Given the description of an element on the screen output the (x, y) to click on. 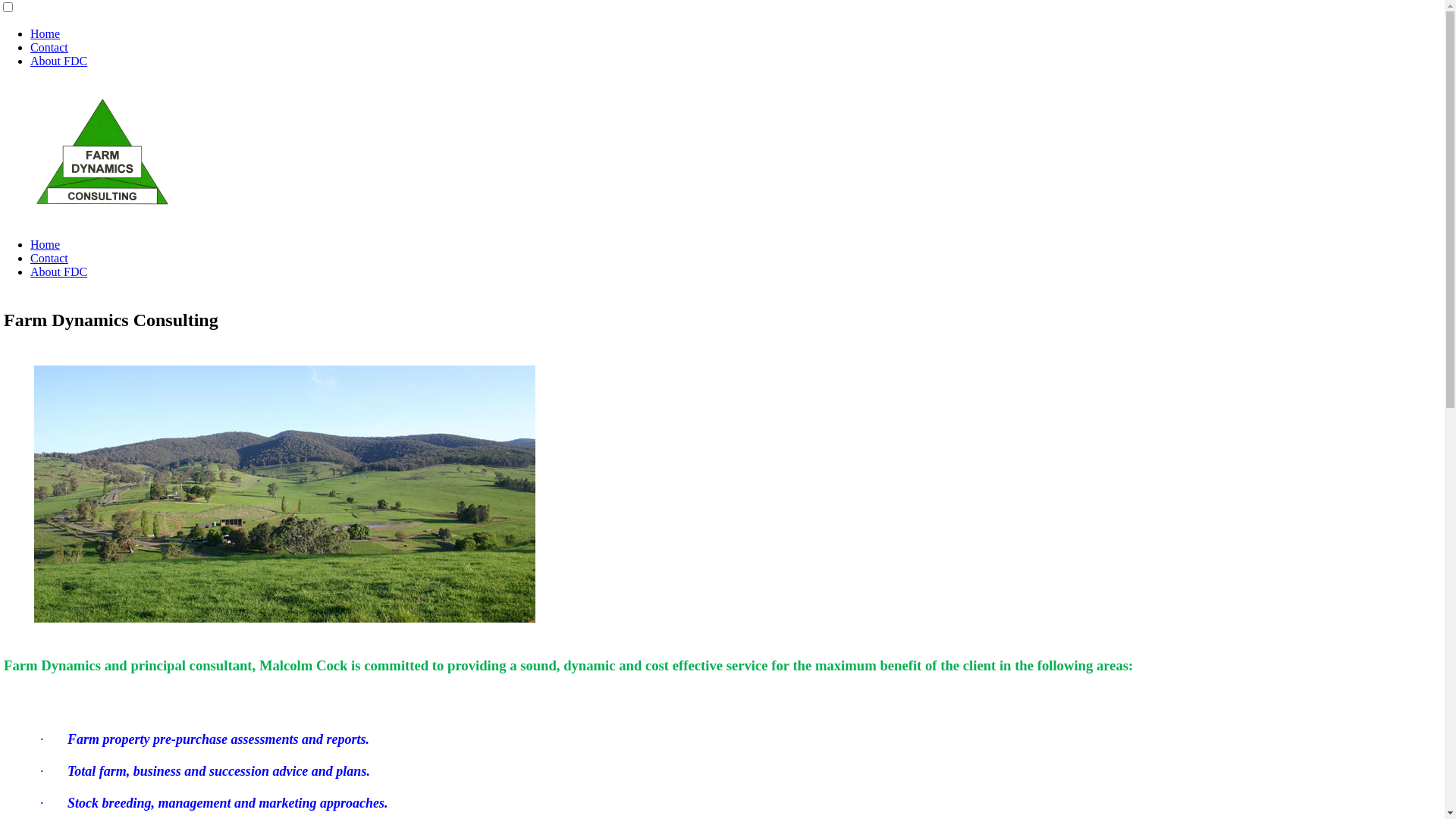
About FDC Element type: text (58, 60)
About FDC Element type: text (58, 271)
Contact Element type: text (49, 257)
Contact Element type: text (49, 46)
Home Element type: text (44, 33)
Home Element type: text (44, 244)
